Given the description of an element on the screen output the (x, y) to click on. 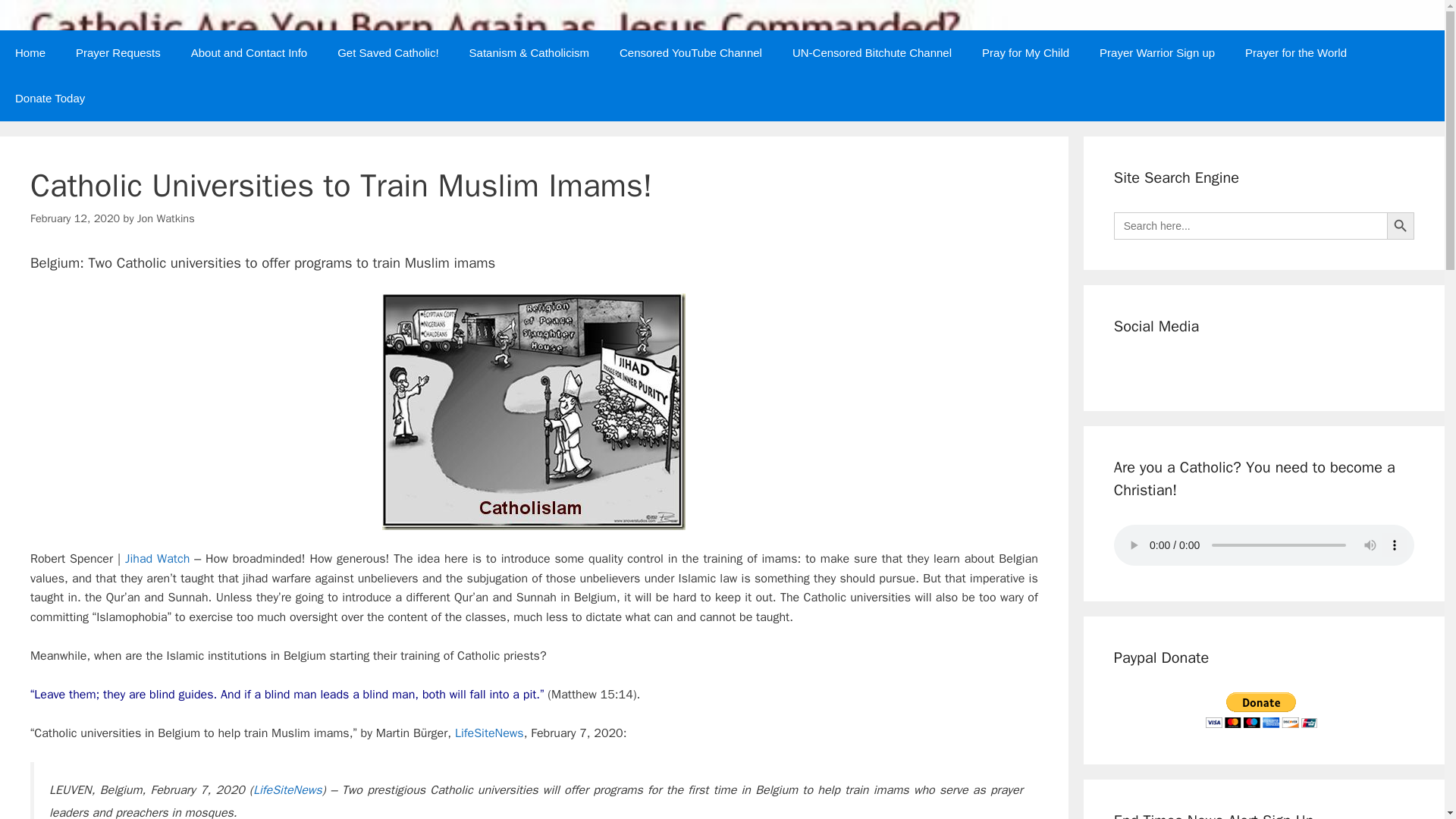
UN-Censored Bitchute Channel (871, 53)
LifeSiteNews (287, 789)
Prayer for the World (1295, 53)
Ministry Video Channel (871, 53)
Prayer Requests (118, 53)
LifeSiteNews (489, 733)
About and Contact Info (248, 53)
Censored YouTube Channel (690, 53)
Donate Today (50, 98)
Pray for My Child (1025, 53)
Home (30, 53)
Prayer Warrior Sign up (1157, 53)
Sign up to be a Prayer Warrior (1157, 53)
Get Saved Catholic! (386, 53)
What every Christian should be Praying! (1295, 53)
